Given the description of an element on the screen output the (x, y) to click on. 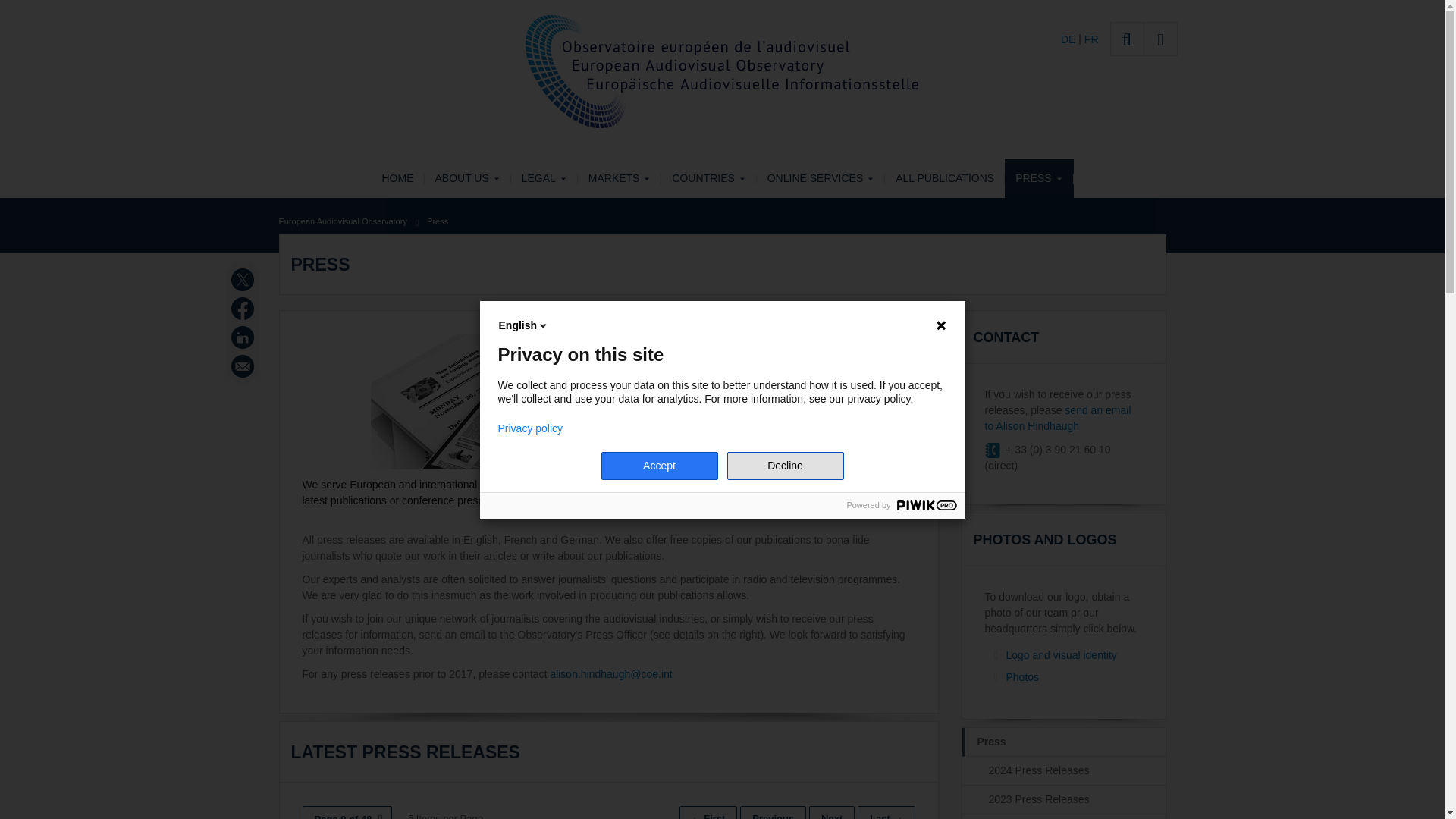
HOME (398, 178)
LEGAL (544, 178)
Share on Linkedin (244, 336)
DE (1069, 39)
Page 9 of 48 (346, 812)
ABOUT US (468, 178)
Send this page (244, 365)
FR (1091, 39)
Share on Facebook (244, 308)
